Given the description of an element on the screen output the (x, y) to click on. 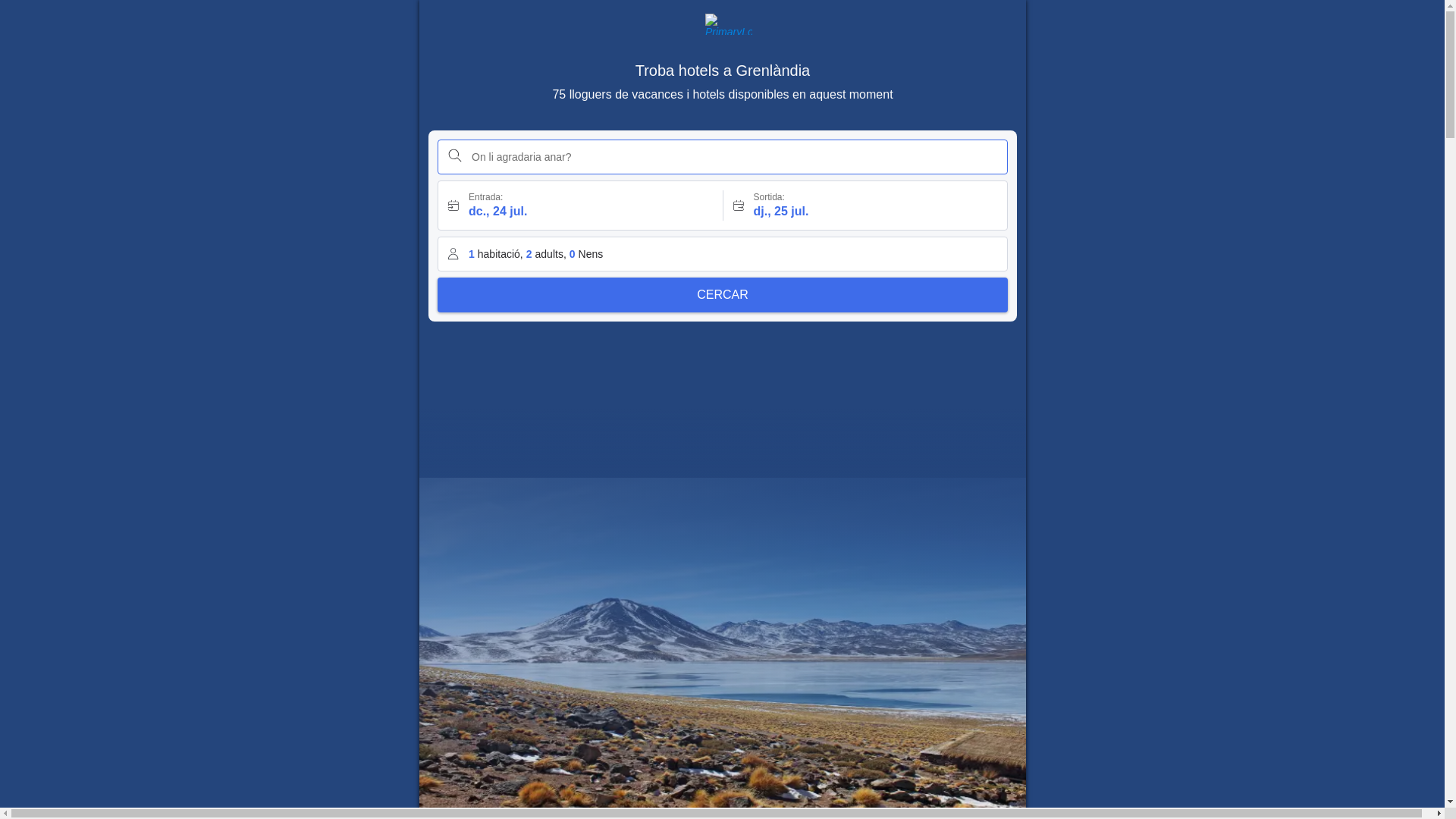
On li agradaria anar? (722, 156)
CERCAR (721, 294)
